Given the description of an element on the screen output the (x, y) to click on. 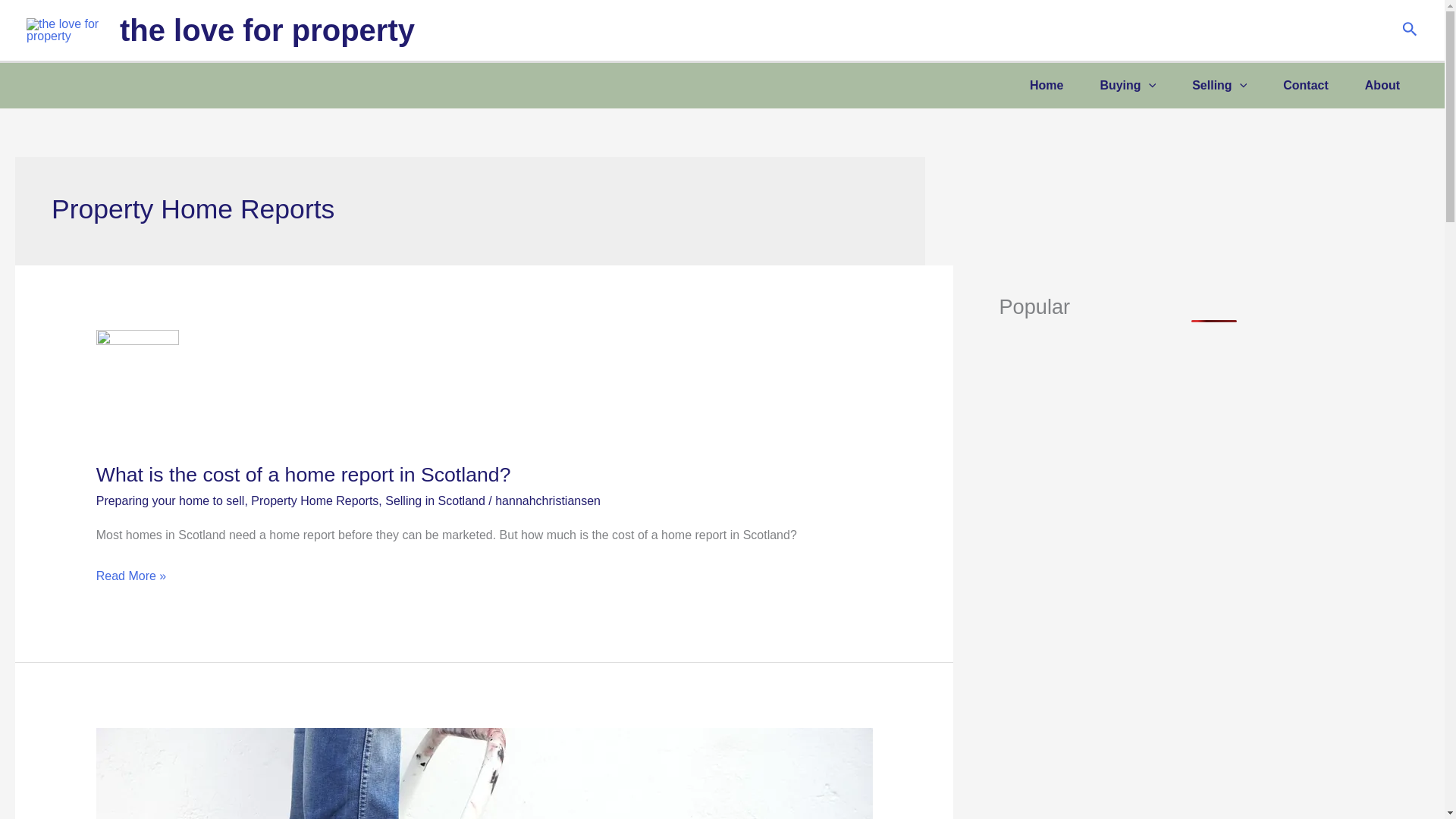
What is the cost of a home report in Scotland? (303, 474)
View all posts by hannahchristiansen (547, 500)
Home (1046, 85)
Buying (1127, 85)
Selling (1219, 85)
the love for property (266, 29)
About (1382, 85)
Contact (1305, 85)
